Given the description of an element on the screen output the (x, y) to click on. 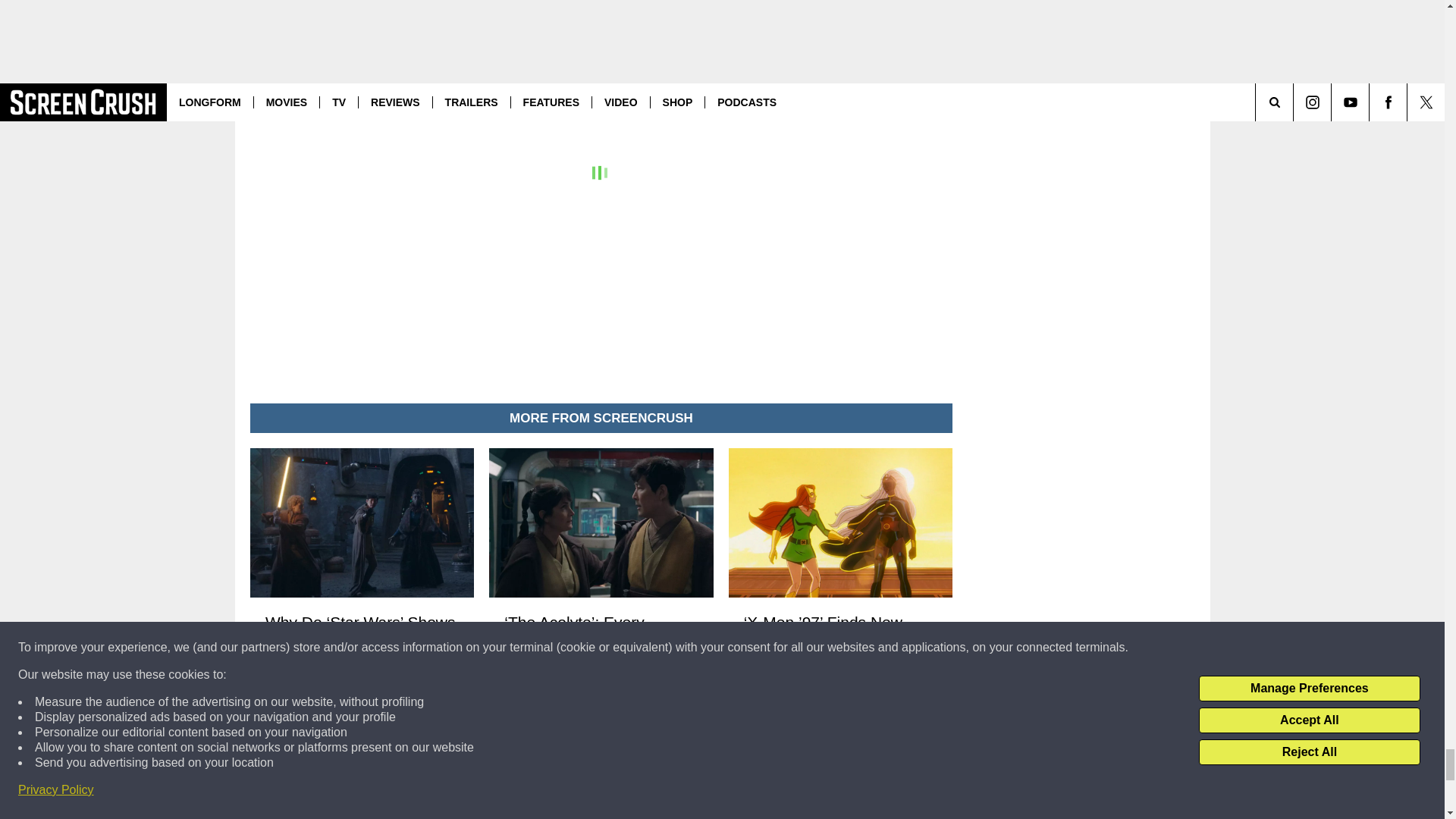
Galleries (405, 28)
Disney Plus (474, 4)
Commerce (414, 4)
Lists (443, 28)
Movie News (489, 28)
